Given the description of an element on the screen output the (x, y) to click on. 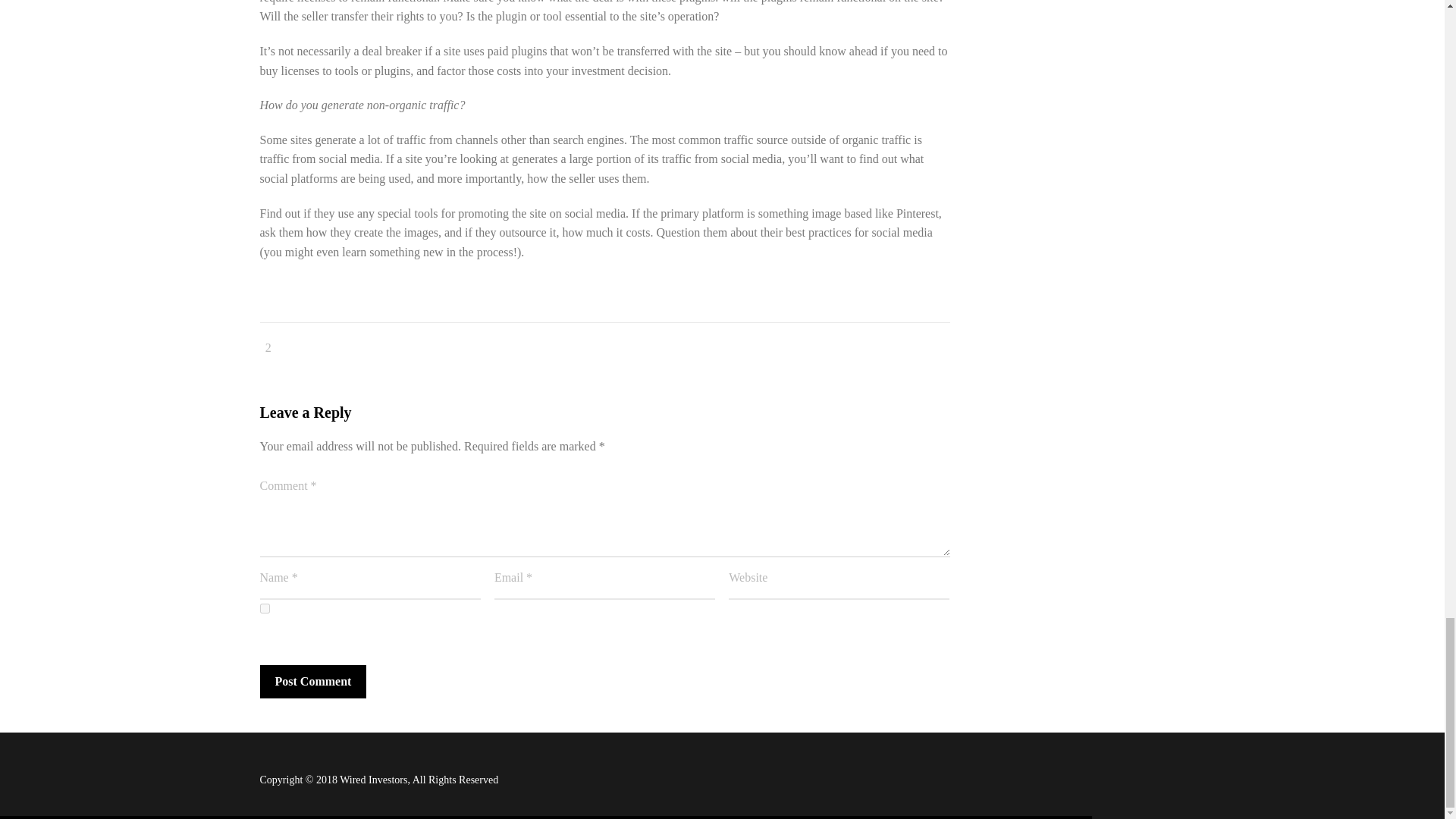
yes (264, 608)
Post Comment (312, 682)
Post Comment (312, 682)
